Given the description of an element on the screen output the (x, y) to click on. 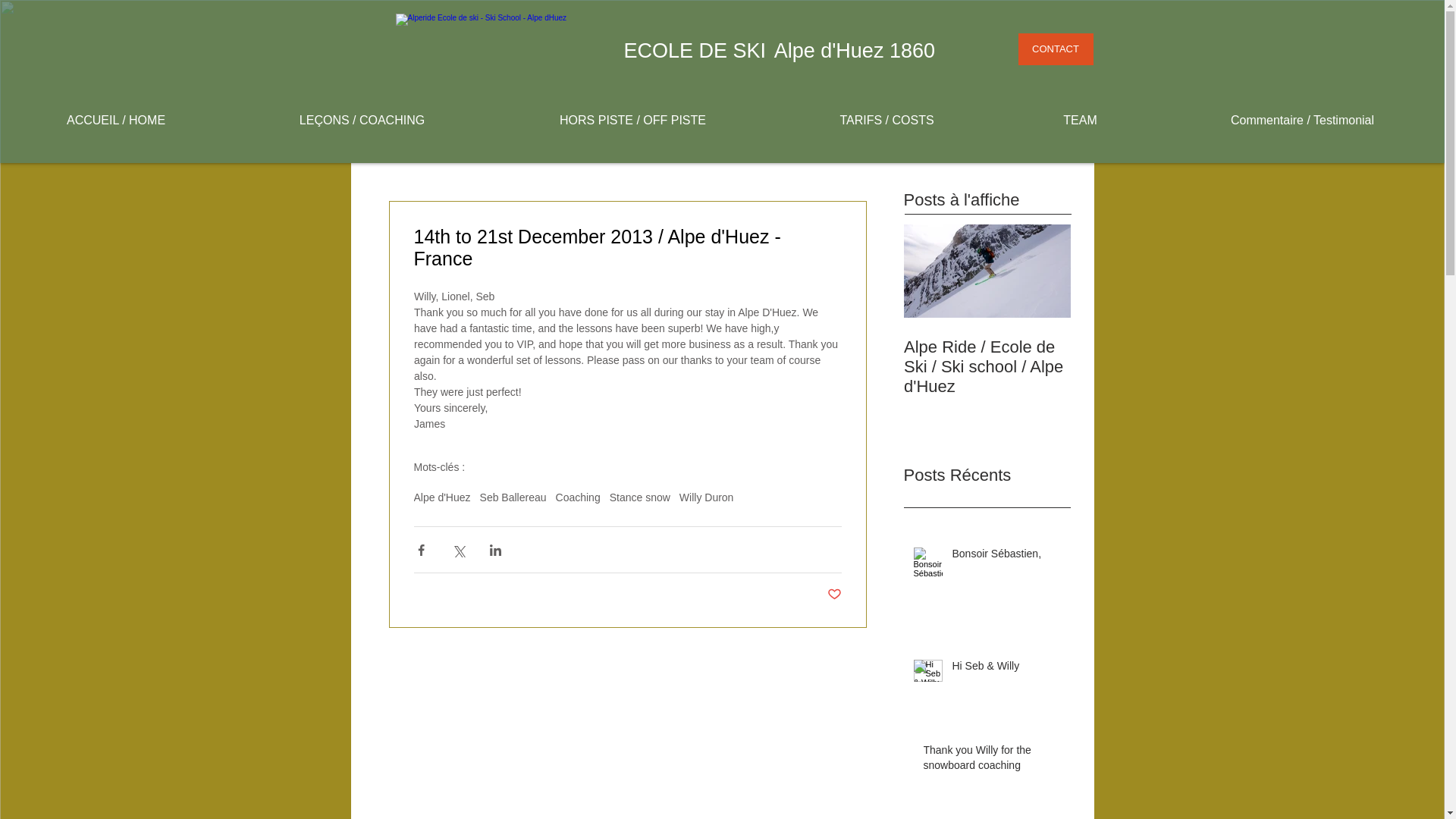
Coaching (577, 497)
ECOLE DE SKI (694, 50)
Thank you Willy for the snowboard coaching (992, 760)
TEAM (1080, 120)
Seb Ballereau (513, 497)
Alpe d'Huez (441, 497)
Alperide Alpe d'Huez (501, 41)
CONTACT (1055, 49)
Willy Duron (706, 497)
Stance snow (639, 497)
